Given the description of an element on the screen output the (x, y) to click on. 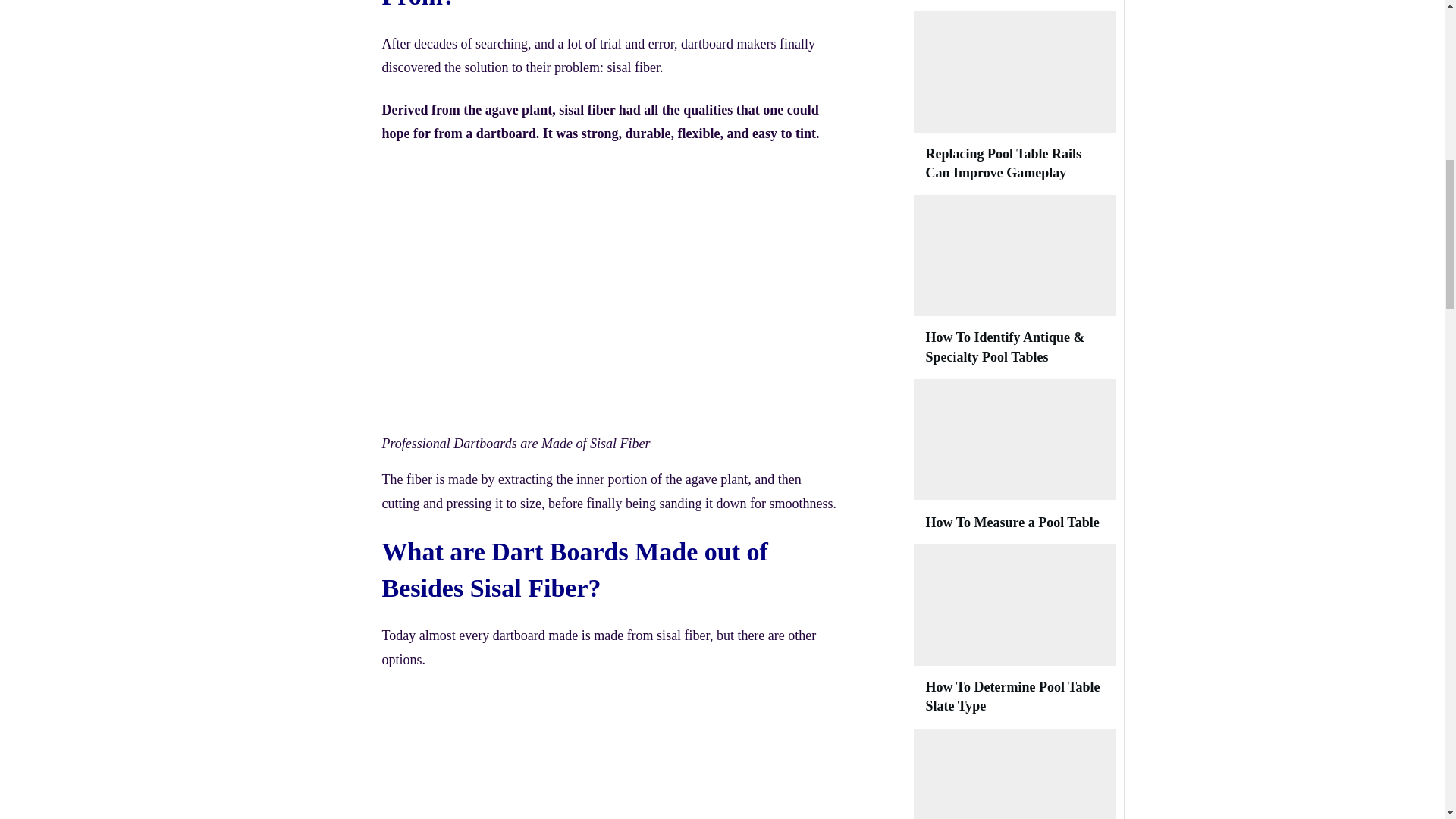
Replacing Pool Table Rails Can Improve Gameplay (1002, 163)
How To Measure a Pool Table (1011, 522)
How To Determine Pool Table Slate Type (1011, 696)
